Given the description of an element on the screen output the (x, y) to click on. 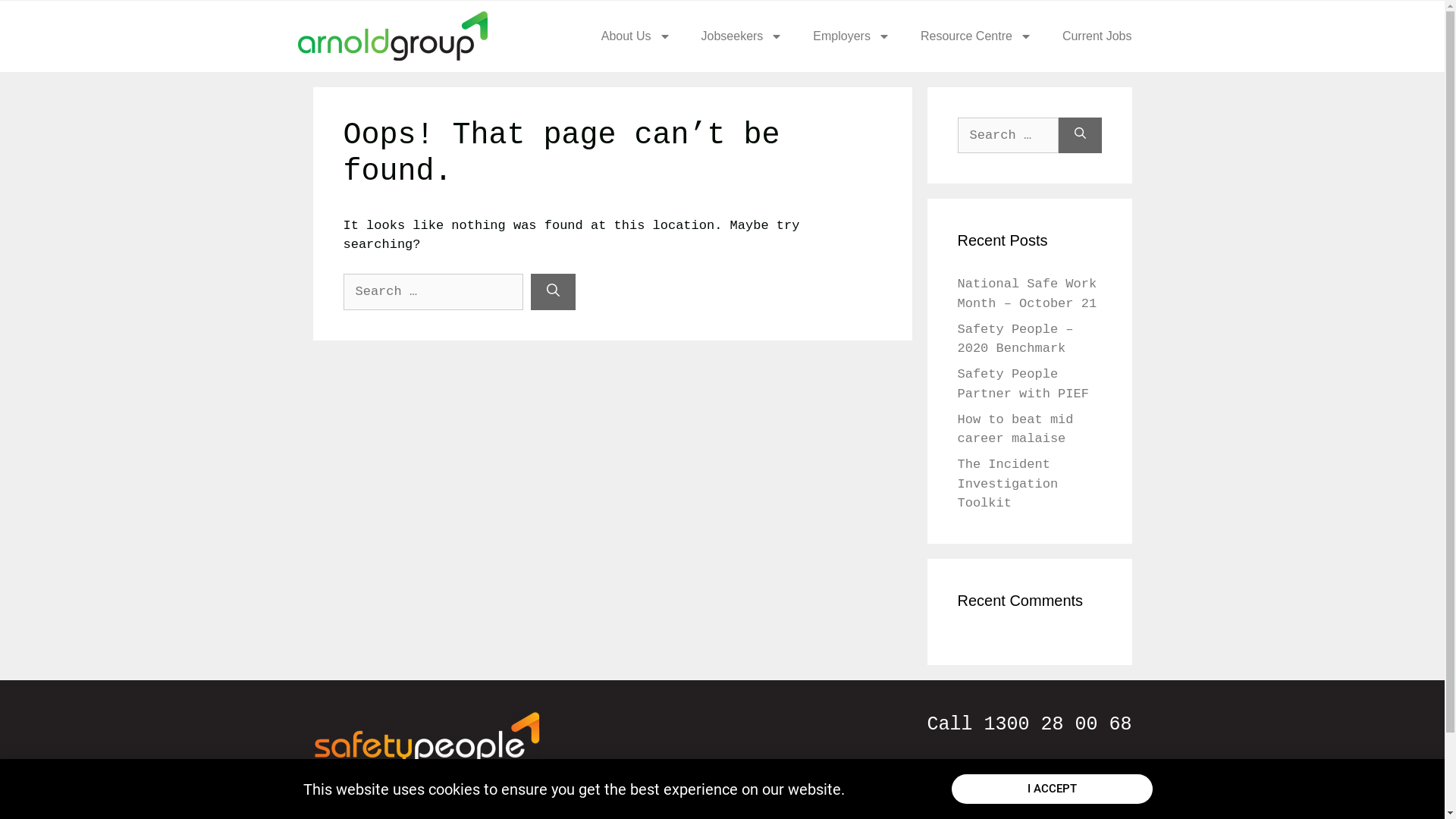
Employers Element type: text (851, 35)
About Us Element type: text (636, 35)
Current Jobs Element type: text (1097, 35)
Jobseekers Element type: text (742, 35)
Search for: Element type: hover (1007, 134)
Search for: Element type: hover (432, 291)
Safety People Partner with PIEF Element type: text (1022, 384)
I ACCEPT Element type: text (1051, 788)
1300 28 00 68 Element type: text (1057, 723)
The Incident Investigation Toolkit Element type: text (1007, 483)
cropped-ARN-Standard-RGB.png Element type: hover (391, 35)
Resource Centre Element type: text (976, 35)
How to beat mid career malaise Element type: text (1015, 429)
